Given the description of an element on the screen output the (x, y) to click on. 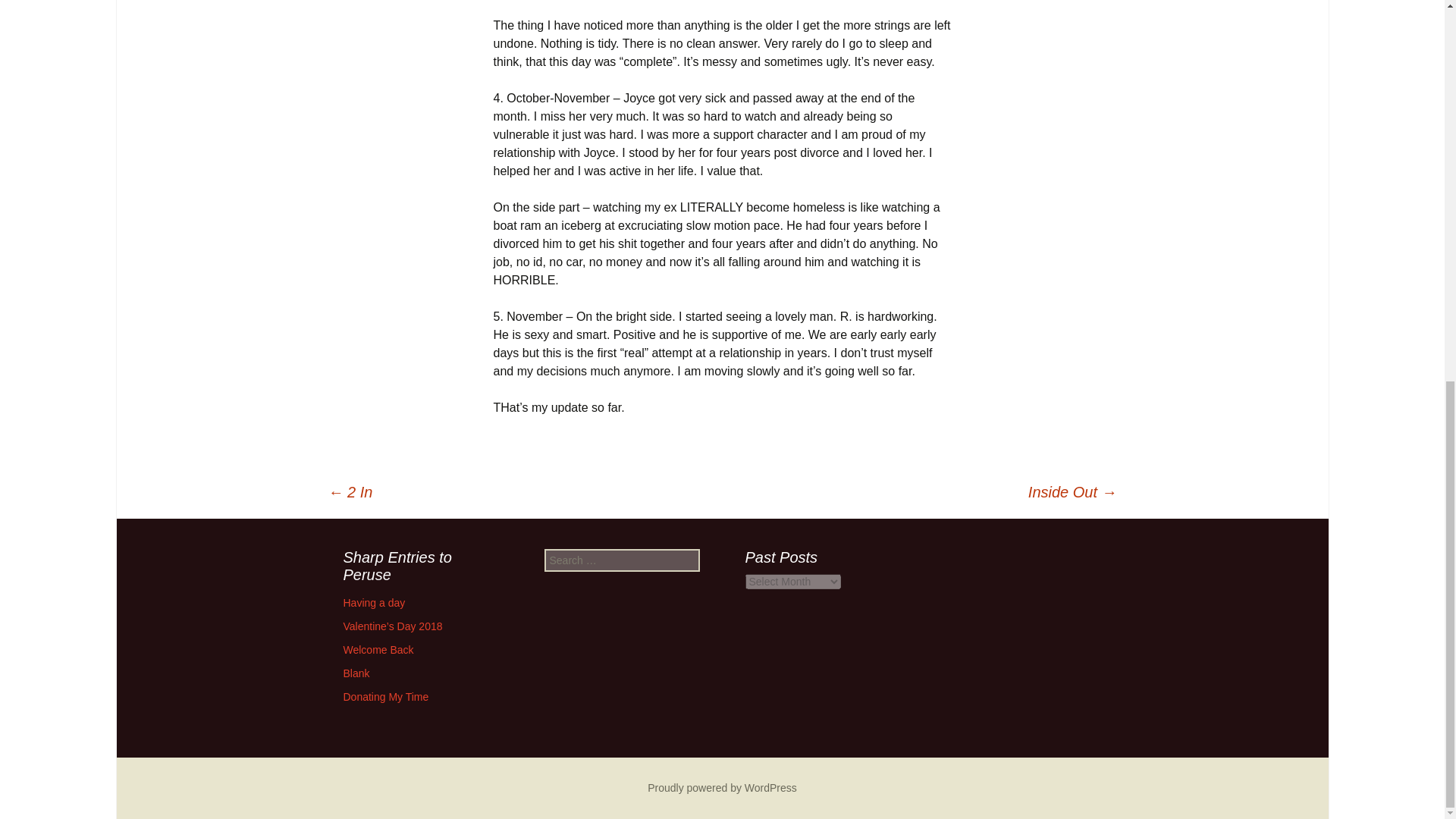
Blank (355, 673)
Donating My Time (385, 696)
Having a day (373, 603)
Proudly powered by WordPress (721, 787)
Welcome Back (377, 649)
